Given the description of an element on the screen output the (x, y) to click on. 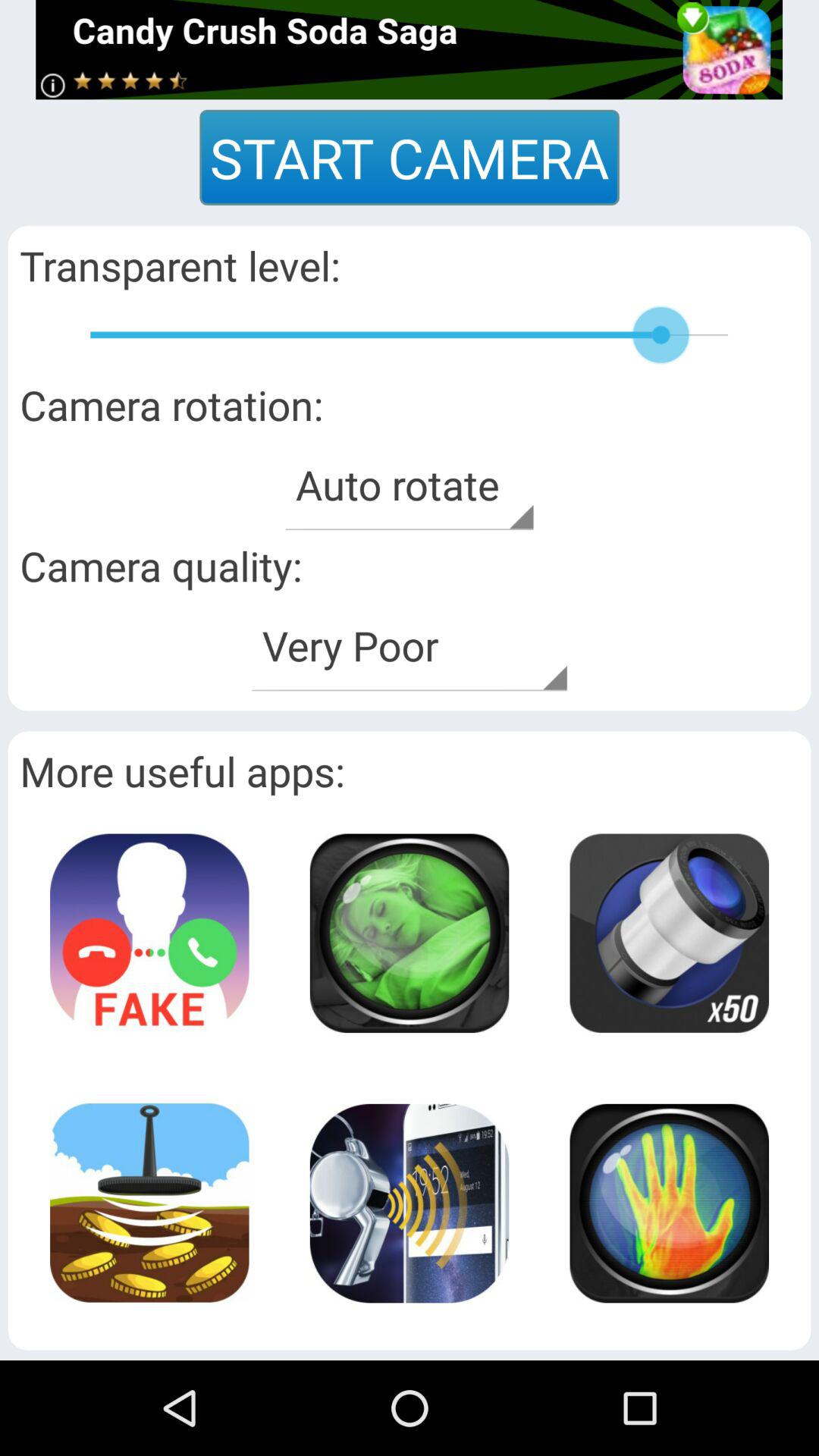
camera button (408, 932)
